Given the description of an element on the screen output the (x, y) to click on. 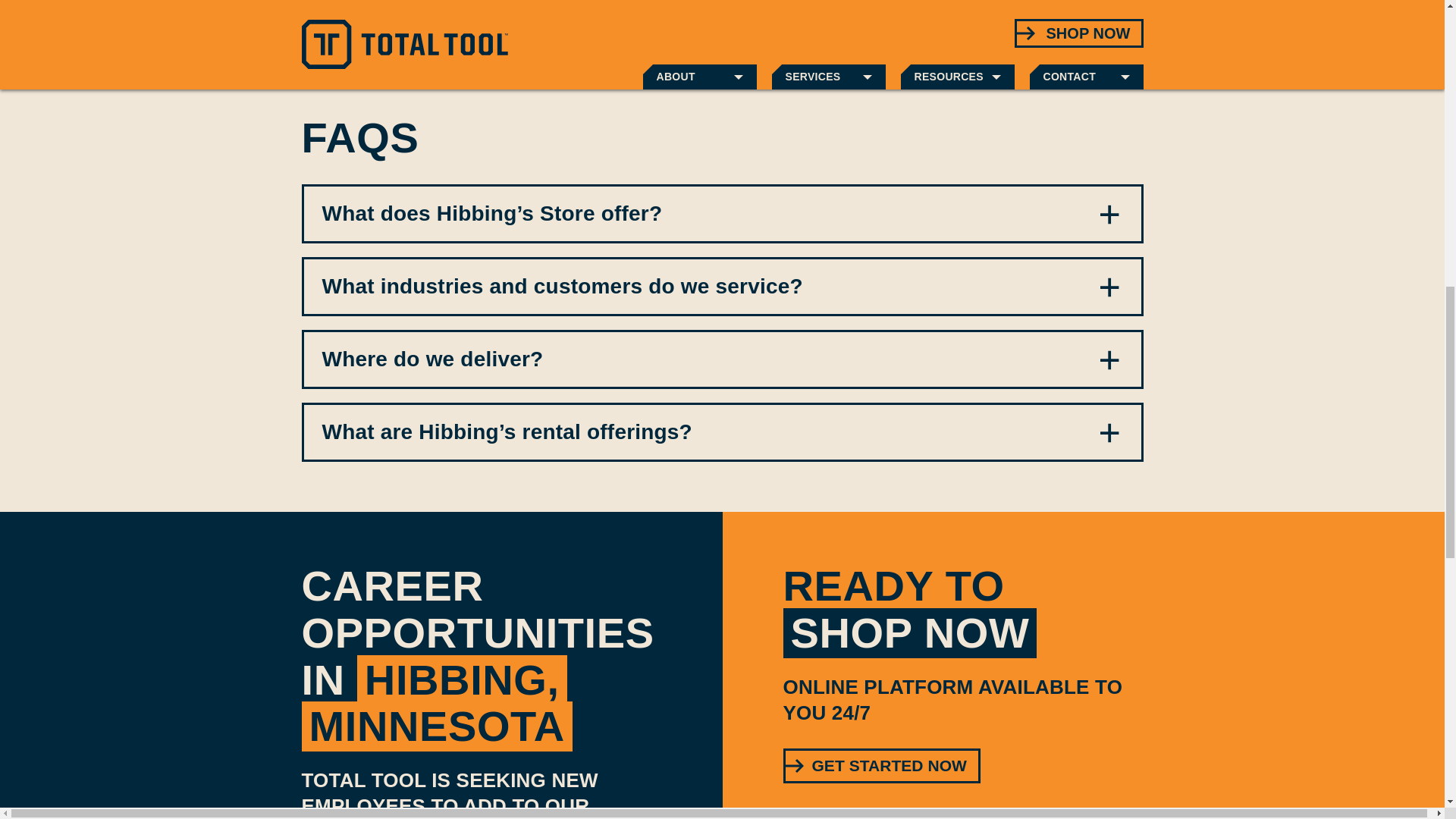
What industries and customers do we service? (721, 286)
GET STARTED NOW (881, 764)
Where do we deliver? (721, 359)
